Given the description of an element on the screen output the (x, y) to click on. 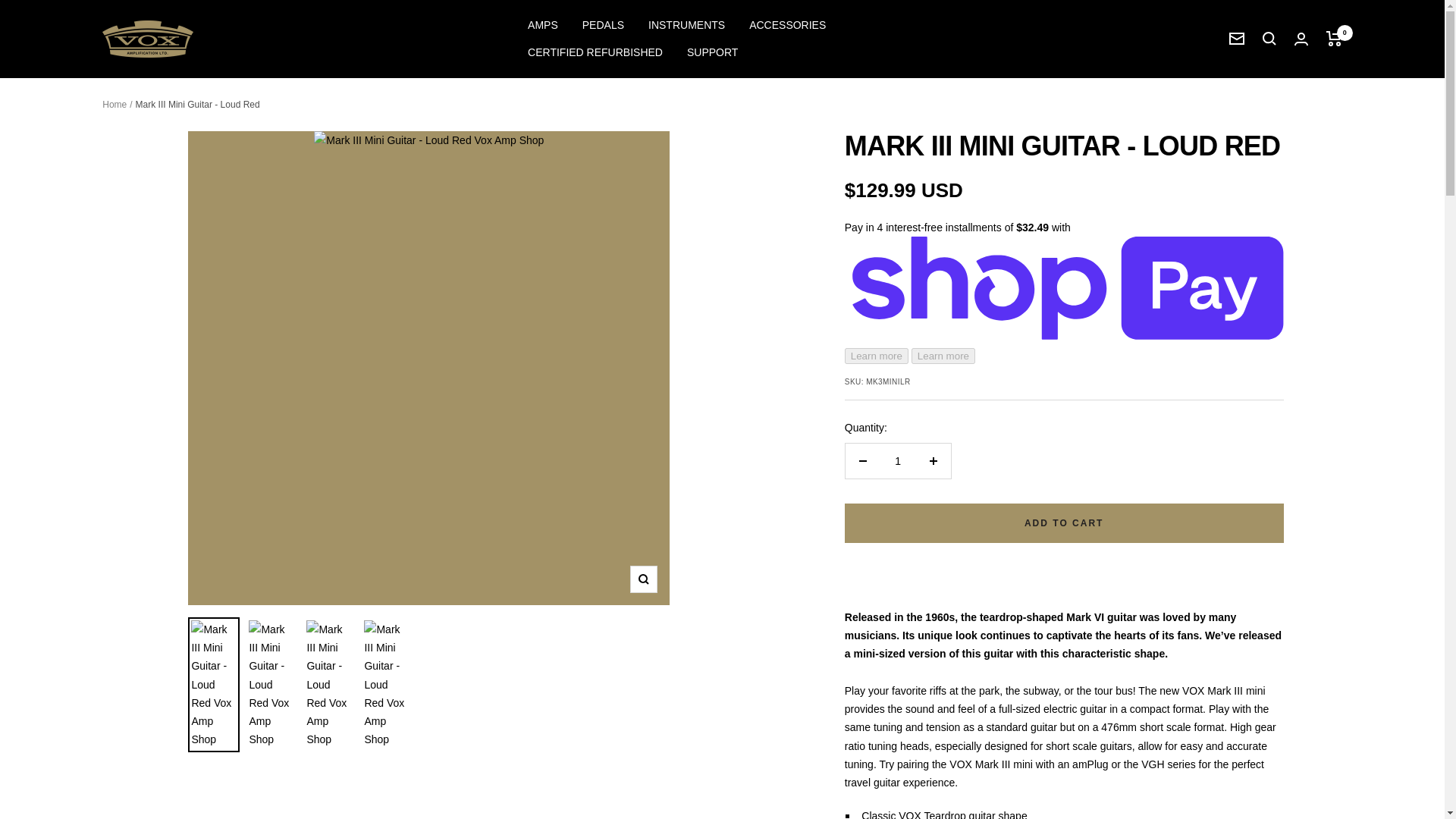
ACCESSORIES (787, 24)
0 (1334, 38)
Newsletter (1236, 38)
Home (113, 104)
AMPS (542, 24)
Increase quantity (932, 460)
SUPPORT (712, 52)
PEDALS (603, 24)
Decrease quantity (862, 460)
Zoom (644, 578)
1 (897, 460)
CERTIFIED REFURBISHED (594, 52)
VOX Amps USA Official Store (147, 38)
INSTRUMENTS (686, 24)
ADD TO CART (1064, 522)
